Given the description of an element on the screen output the (x, y) to click on. 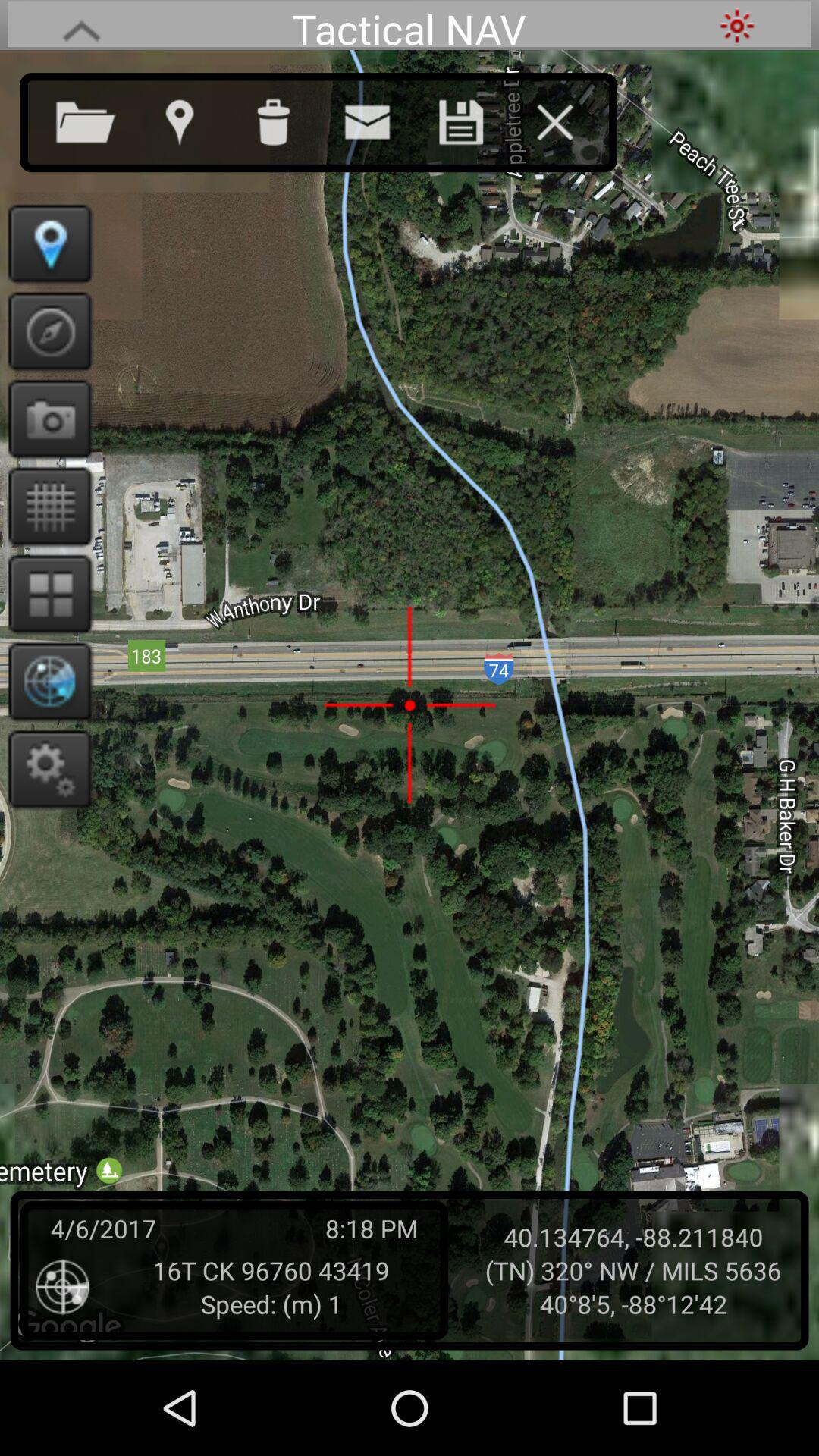
take picture (45, 418)
